Given the description of an element on the screen output the (x, y) to click on. 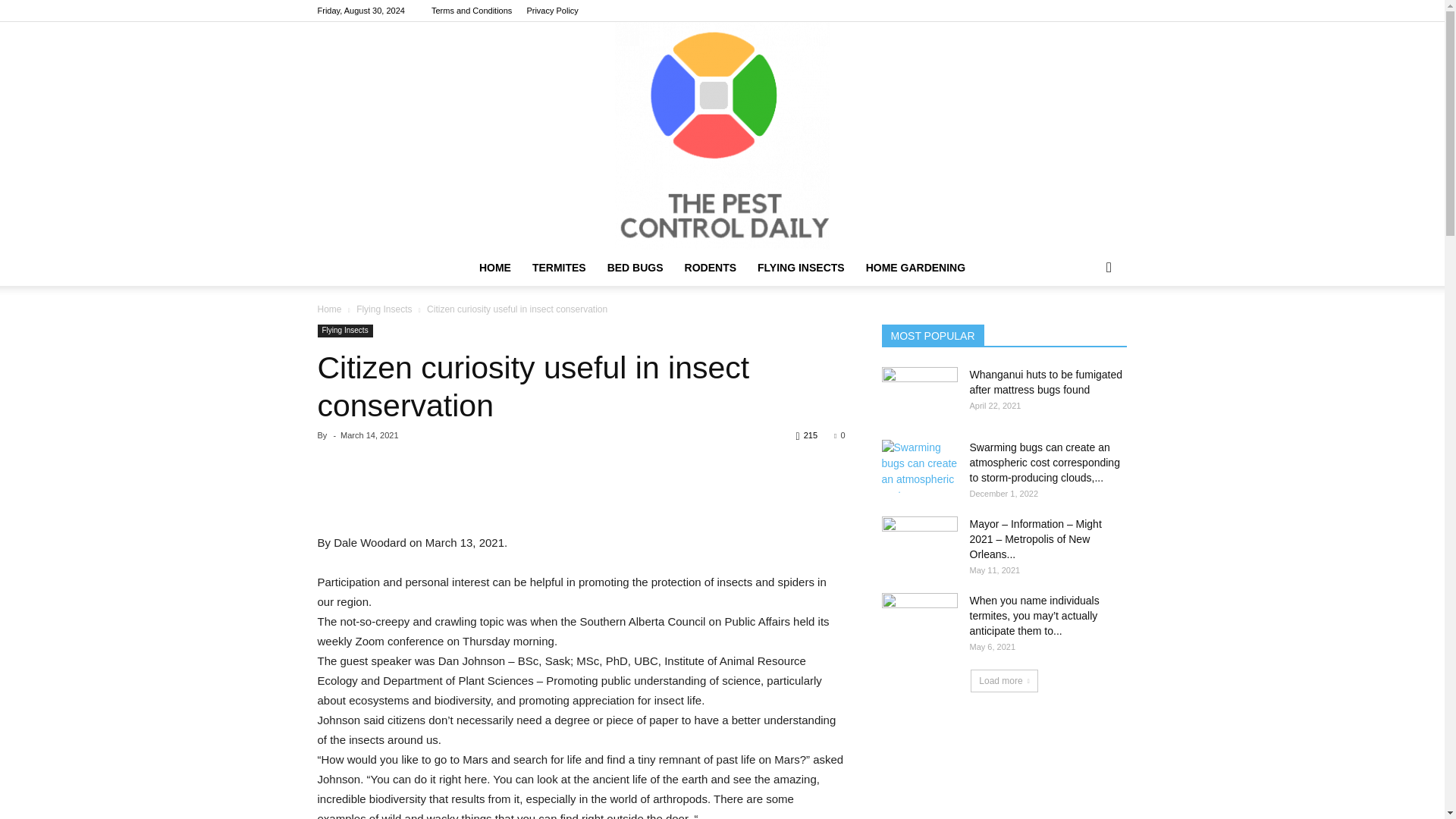
0 (839, 434)
RODENTS (710, 267)
Flying Insects (384, 308)
Search (1085, 328)
Flying Insects (344, 330)
TERMITES (558, 267)
BED BUGS (635, 267)
Home (328, 308)
View all posts in Flying Insects (384, 308)
HOME GARDENING (915, 267)
